Given the description of an element on the screen output the (x, y) to click on. 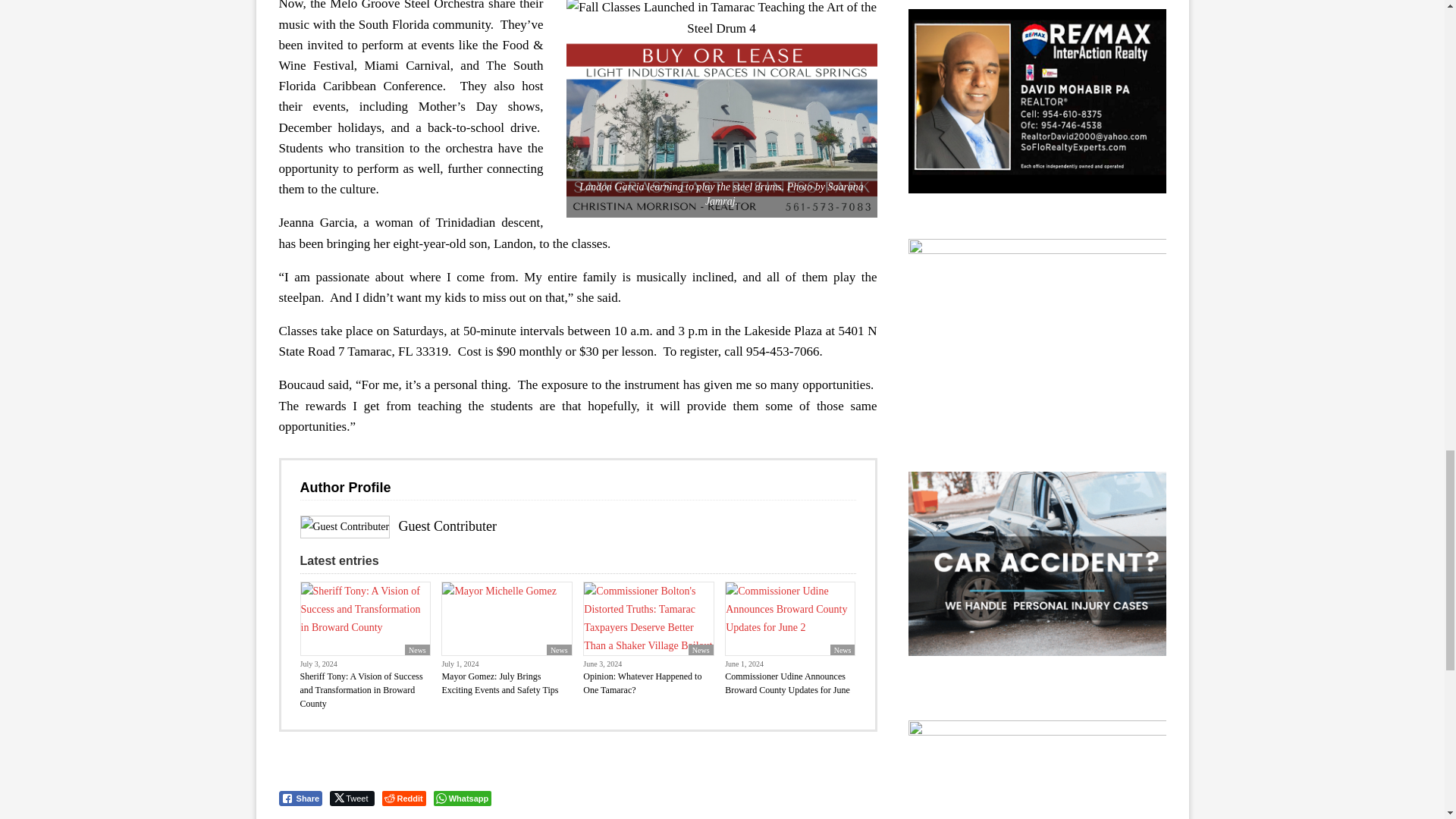
Mayor Gomez: July Brings Exciting Events and Safety Tips 3 (506, 618)
Opinion: Whatever Happened to One Tamarac? 4 (648, 618)
